Given the description of an element on the screen output the (x, y) to click on. 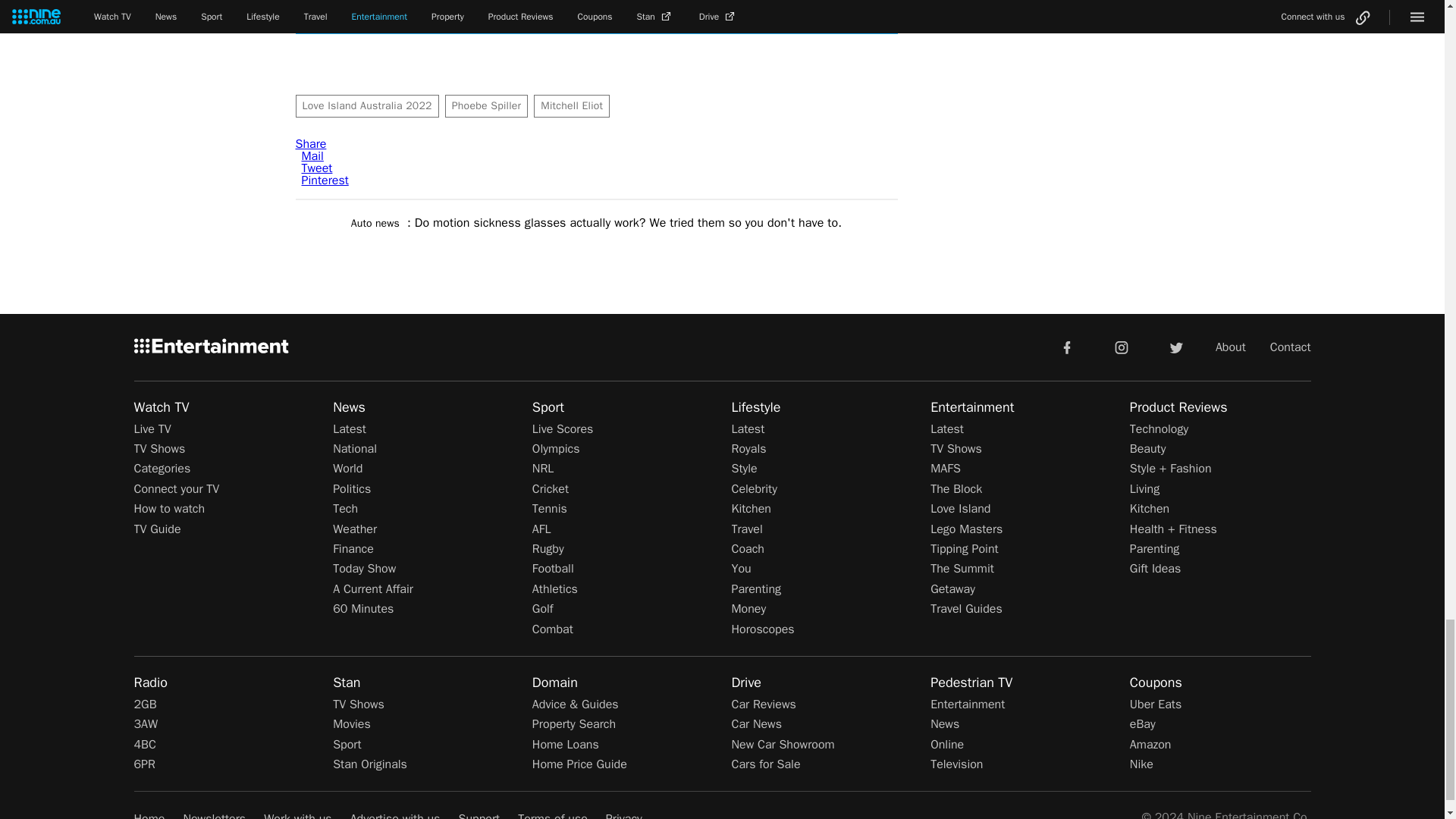
instagram (1121, 346)
twitter (1175, 346)
facebook (1066, 346)
